Given the description of an element on the screen output the (x, y) to click on. 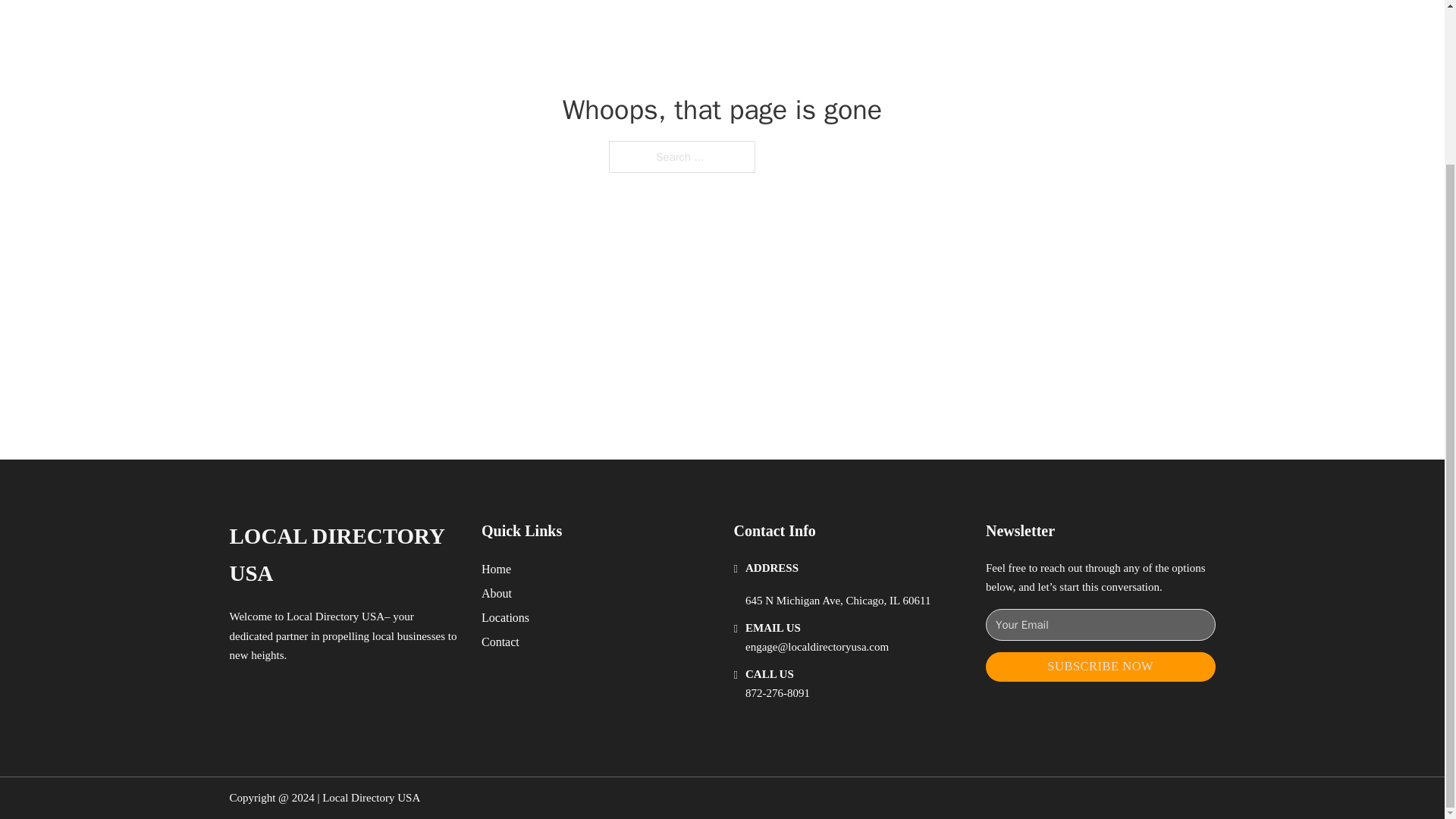
SUBSCRIBE NOW (1100, 666)
About (496, 593)
LOCAL DIRECTORY USA (343, 554)
Contact (500, 641)
Locations (505, 617)
872-276-8091 (777, 693)
Home (496, 568)
